Given the description of an element on the screen output the (x, y) to click on. 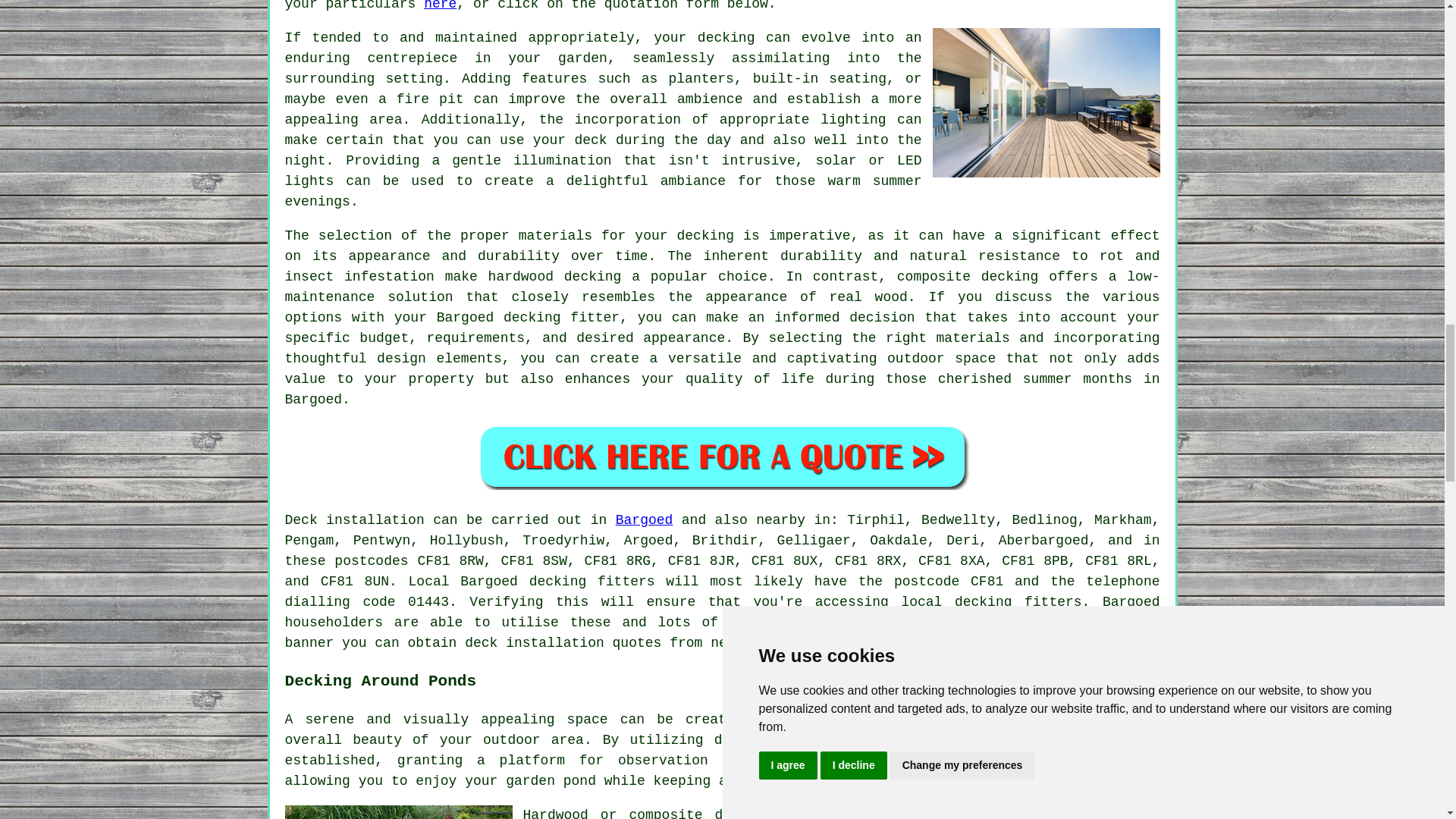
Deck installation (355, 519)
Bargoed Decking Installation (1046, 102)
decking (557, 581)
Decking Around Pond (398, 812)
decking fitters (1018, 601)
composite decking (967, 276)
decking around a garden pond (906, 719)
